Given the description of an element on the screen output the (x, y) to click on. 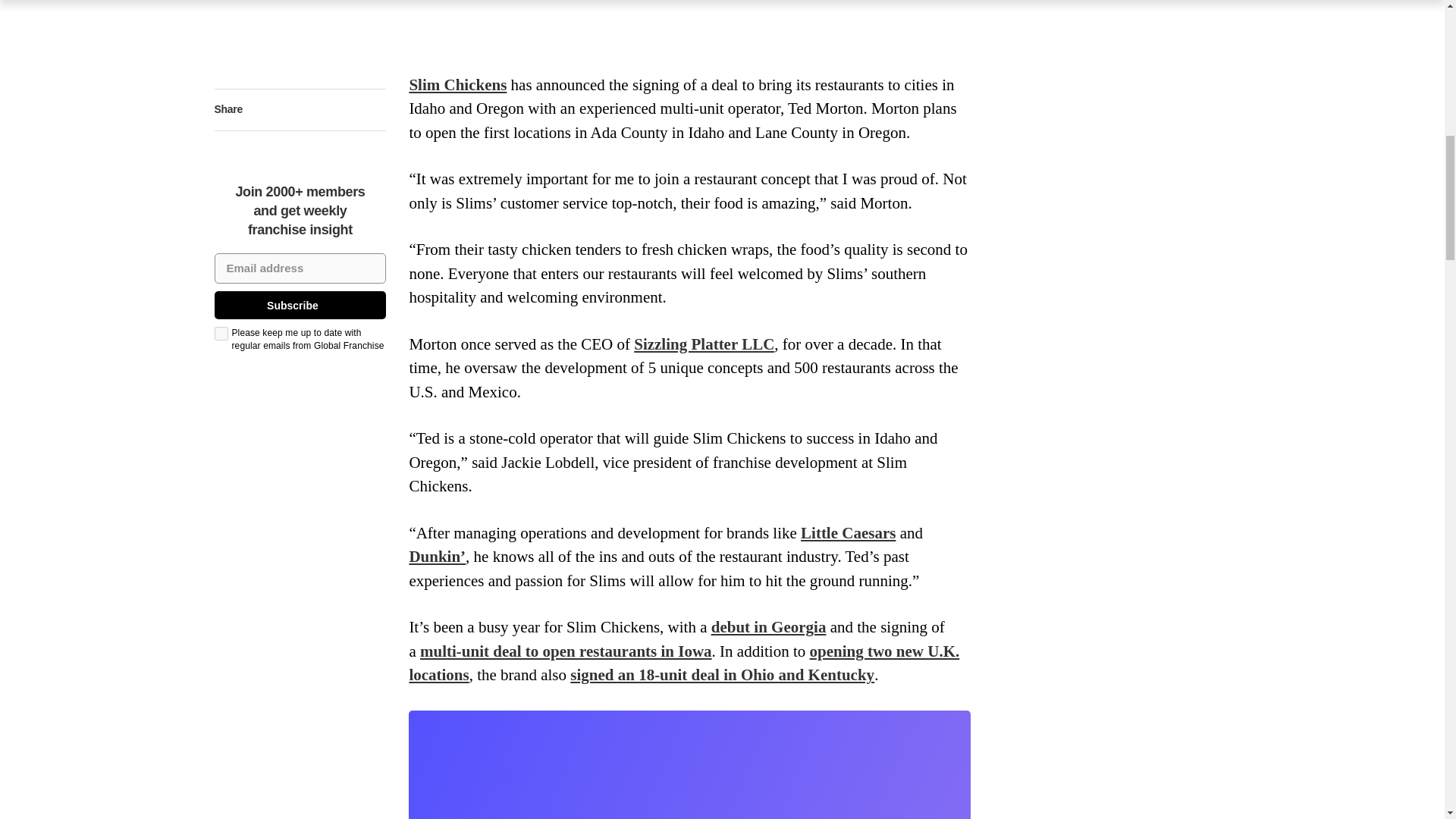
on (220, 333)
